Given the description of an element on the screen output the (x, y) to click on. 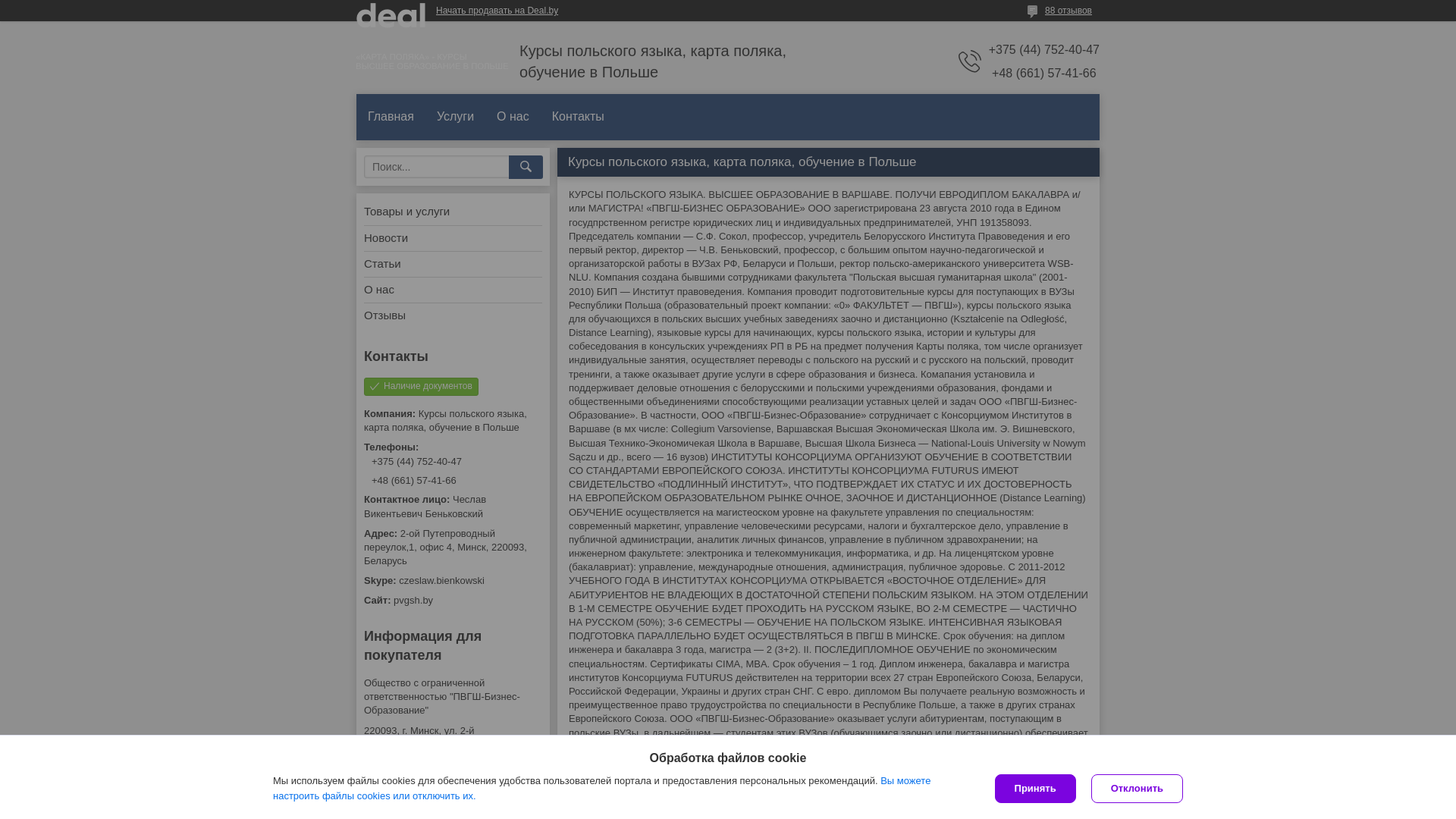
facebook Element type: hover (591, 774)
pvgsh.by Element type: text (453, 600)
twitter Element type: hover (608, 774)
